Given the description of an element on the screen output the (x, y) to click on. 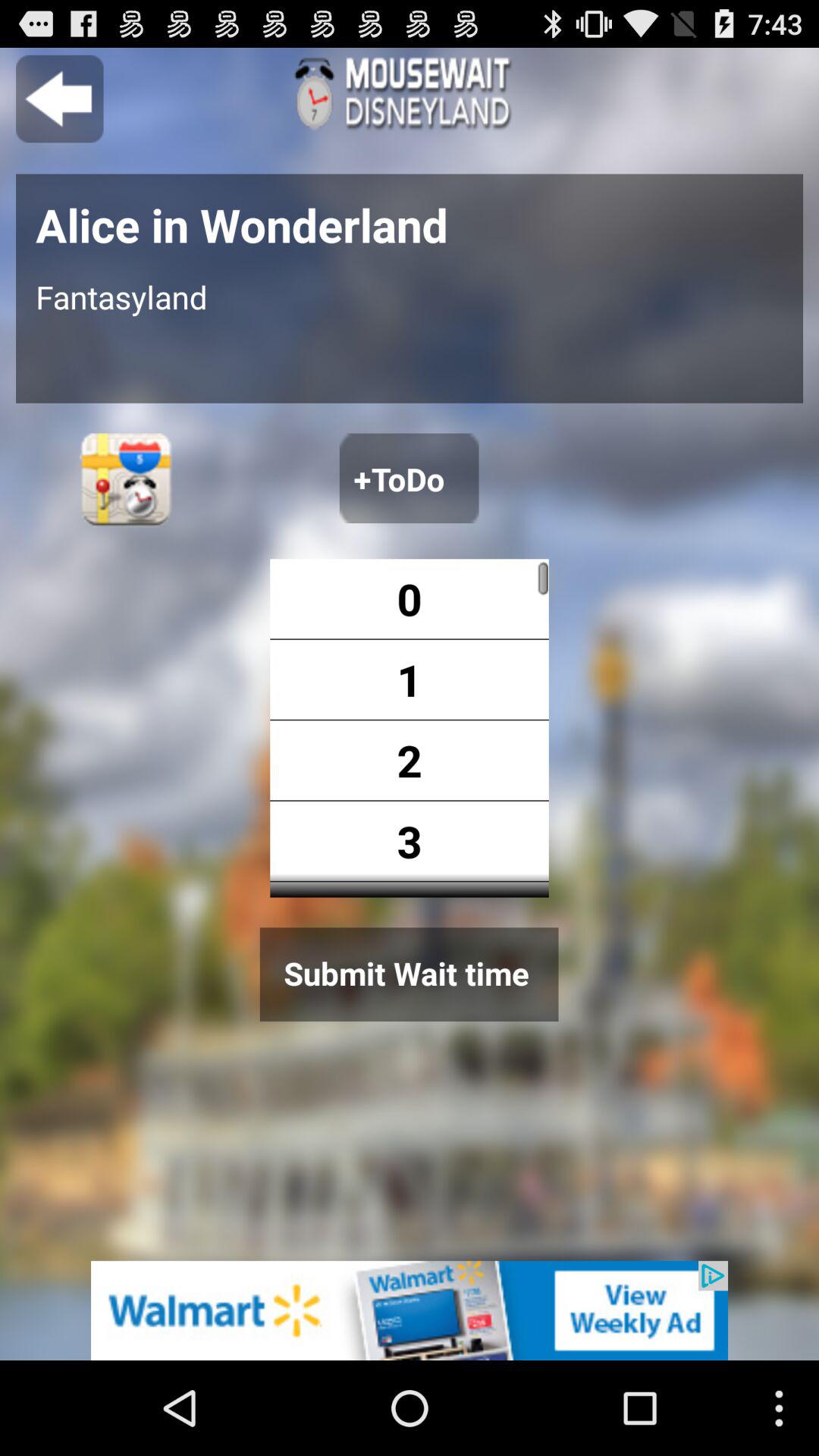
submit option (408, 974)
